Given the description of an element on the screen output the (x, y) to click on. 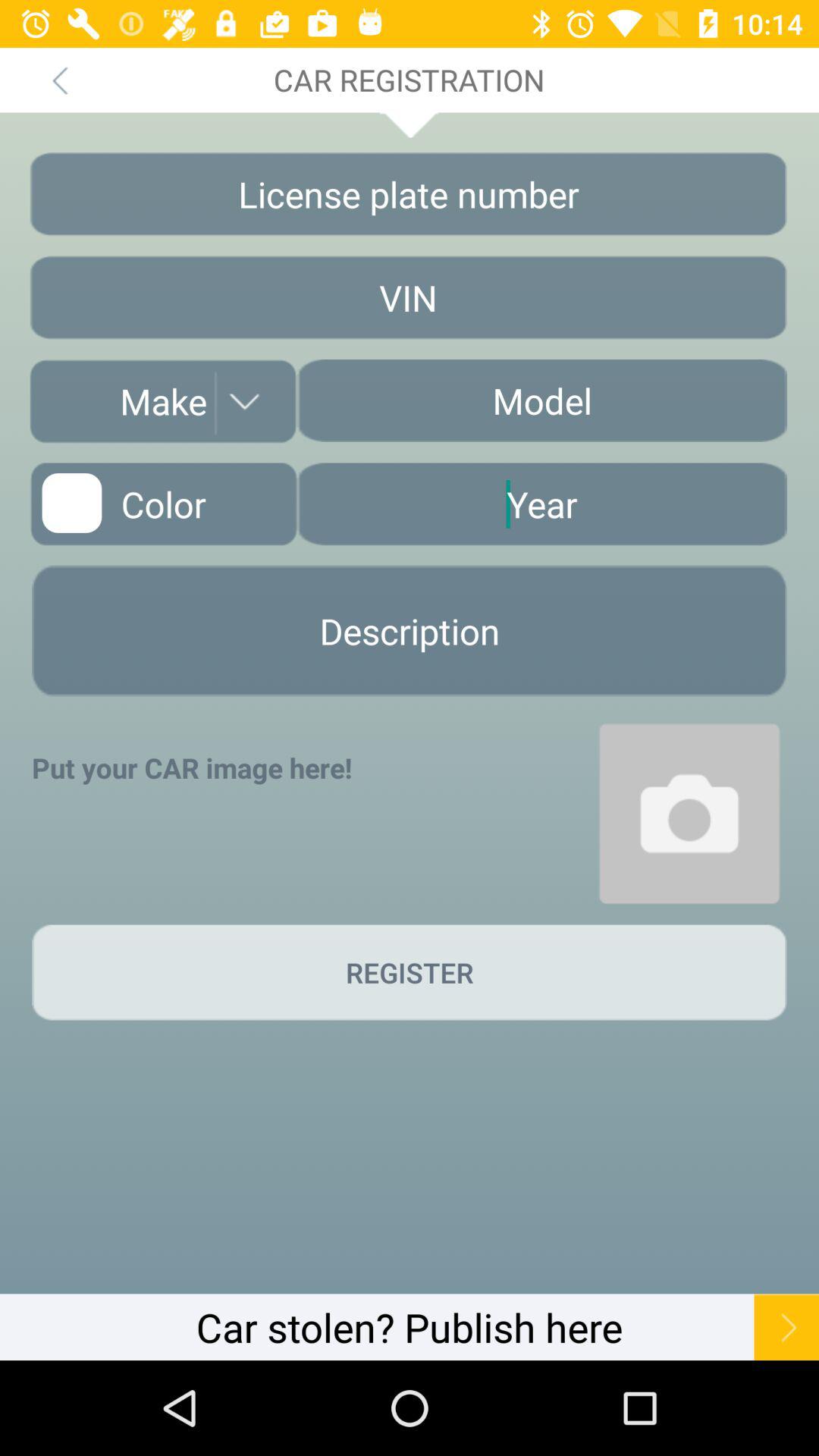
select color (163, 503)
